Given the description of an element on the screen output the (x, y) to click on. 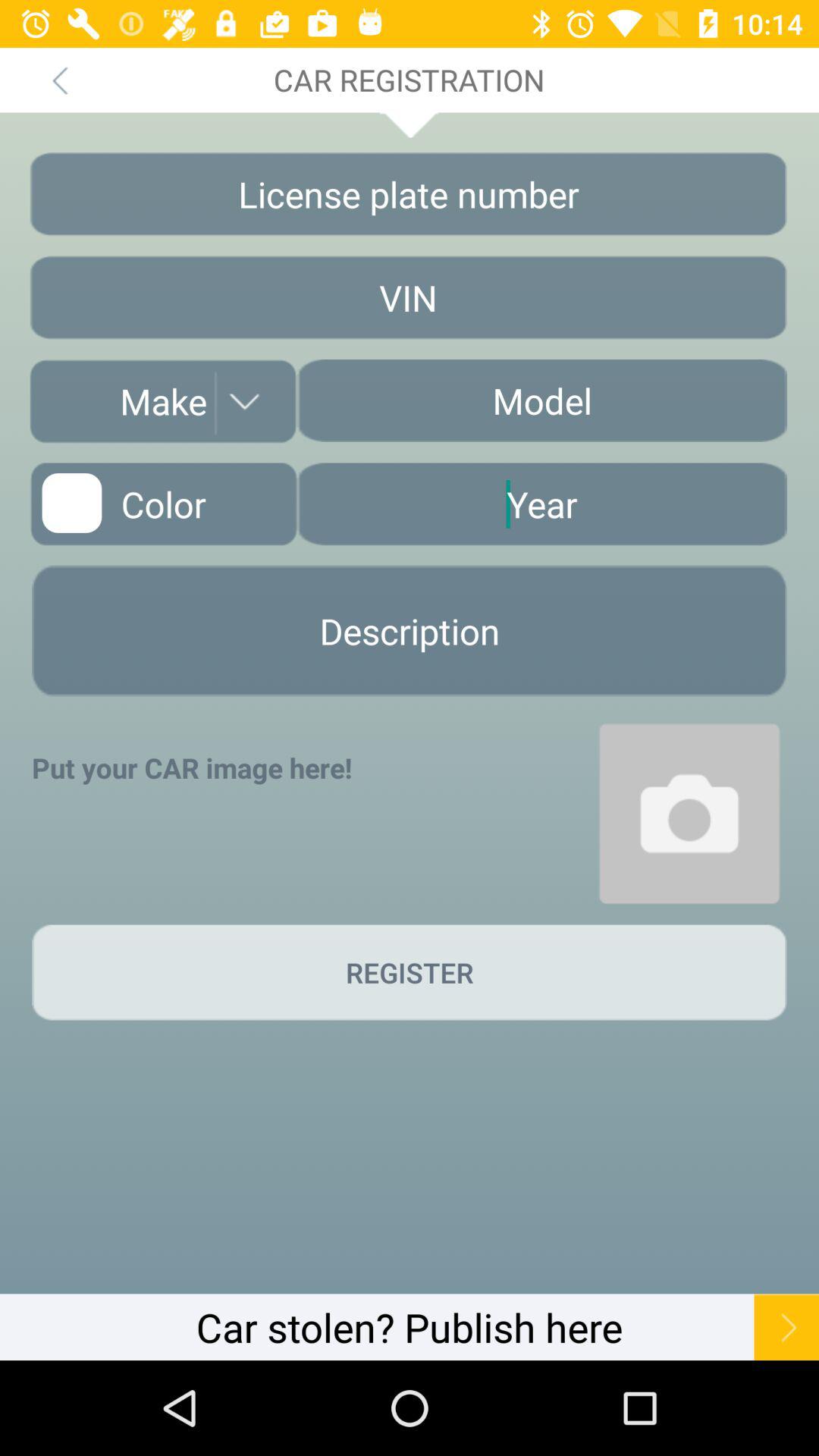
select color (163, 503)
